Given the description of an element on the screen output the (x, y) to click on. 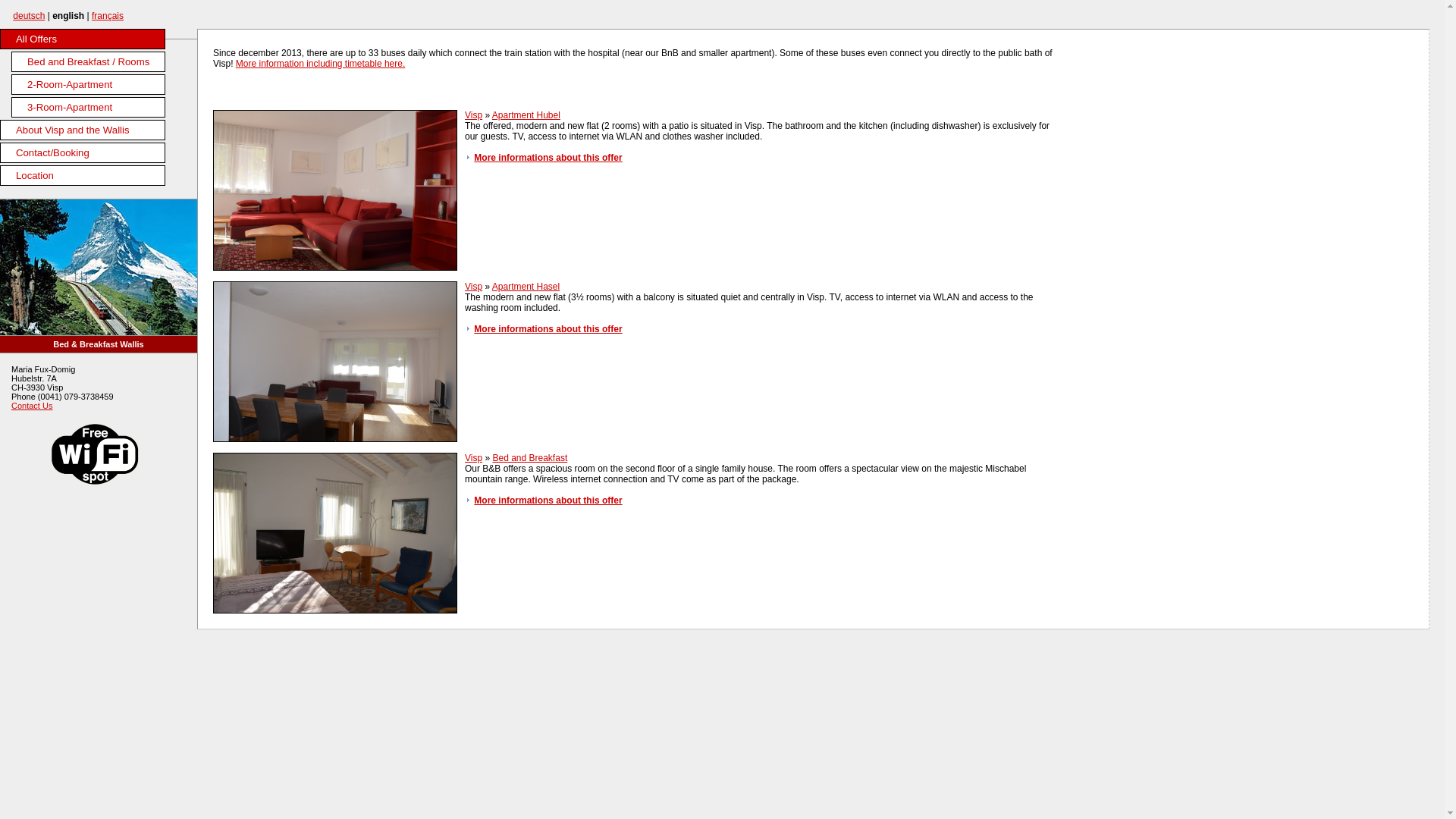
Visp Element type: text (473, 457)
More informations about this offer Element type: text (547, 328)
Contact Us Element type: text (31, 405)
Apartment Hubel Element type: text (526, 114)
Visp Element type: text (473, 286)
deutsch Element type: text (28, 15)
Bed and Breakfast Element type: text (529, 457)
More information including timetable here. Element type: text (319, 63)
Apartment Hasel Element type: text (525, 286)
Location Element type: text (82, 175)
More informations about this offer Element type: text (547, 500)
More informations about this offer Element type: text (547, 157)
Bed and Breakfast / Rooms Element type: text (88, 61)
Visp Element type: text (473, 114)
2-Room-Apartment Element type: text (88, 84)
Contact/Booking Element type: text (82, 152)
Bed & Breakfast Wallis Element type: text (98, 343)
All Offers Element type: text (82, 38)
About Visp and the Wallis Element type: text (82, 129)
3-Room-Apartment Element type: text (88, 107)
